Given the description of an element on the screen output the (x, y) to click on. 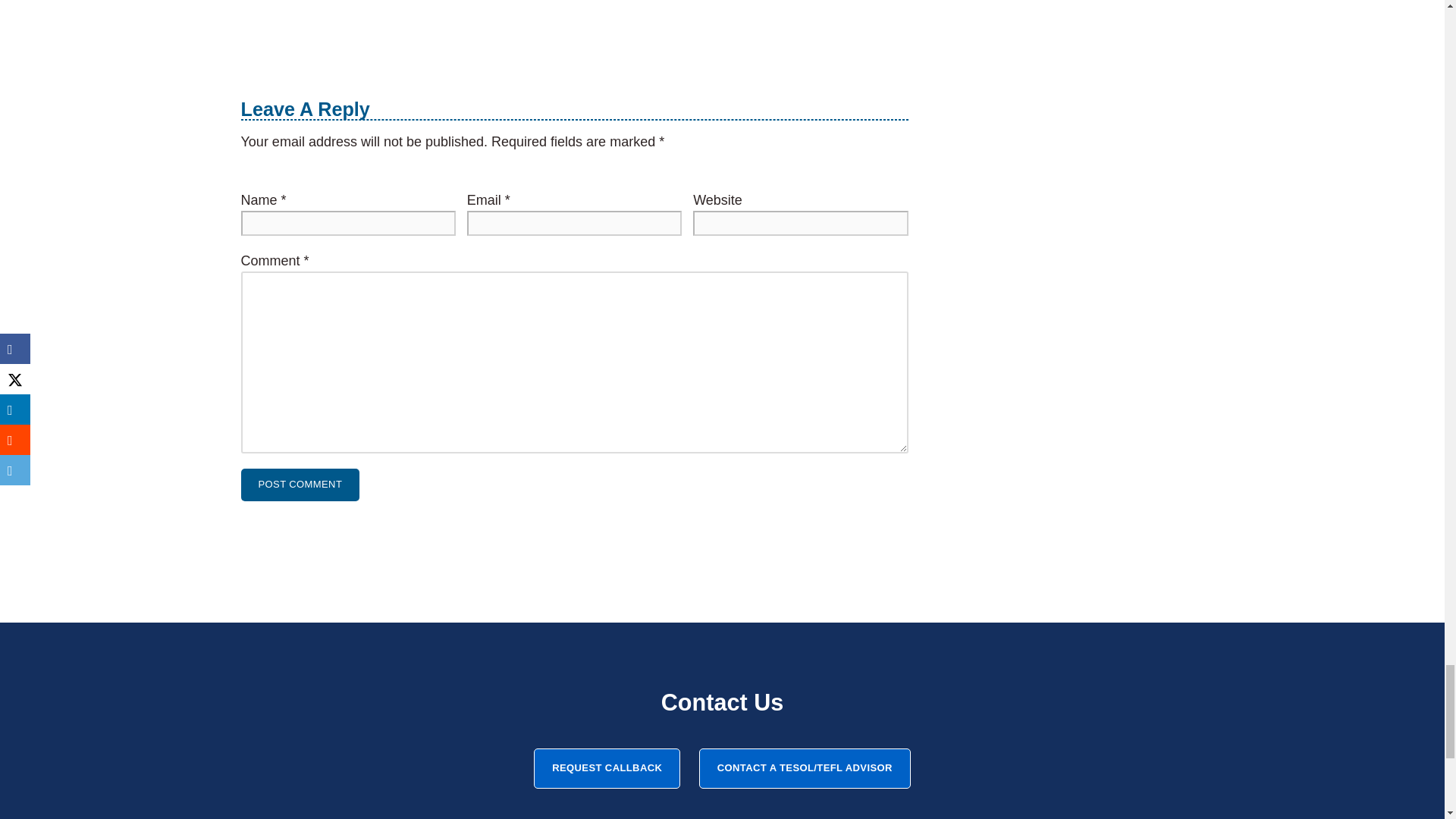
Post Comment (300, 484)
